Given the description of an element on the screen output the (x, y) to click on. 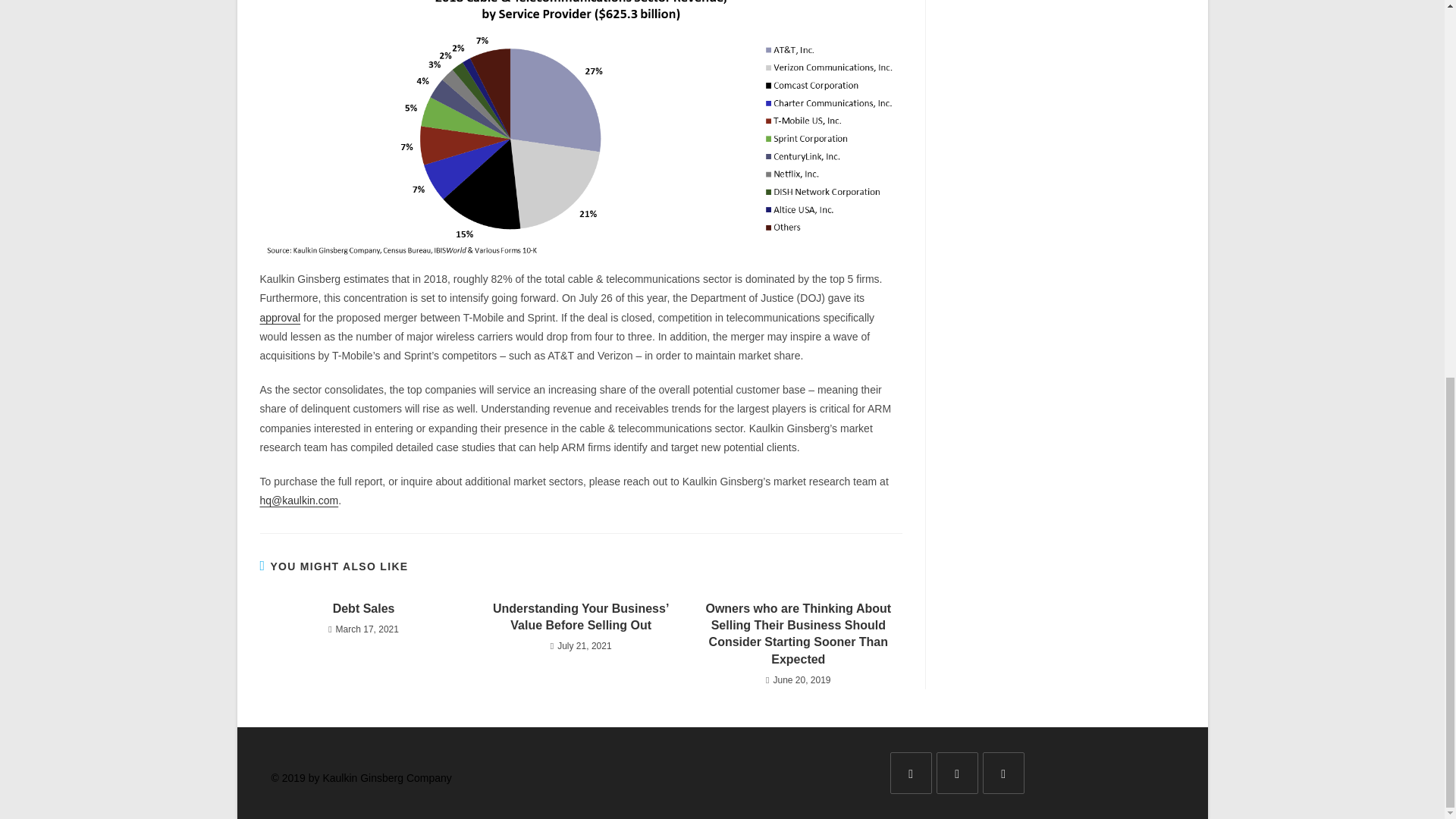
approval (279, 317)
Debt Sales (362, 607)
